Given the description of an element on the screen output the (x, y) to click on. 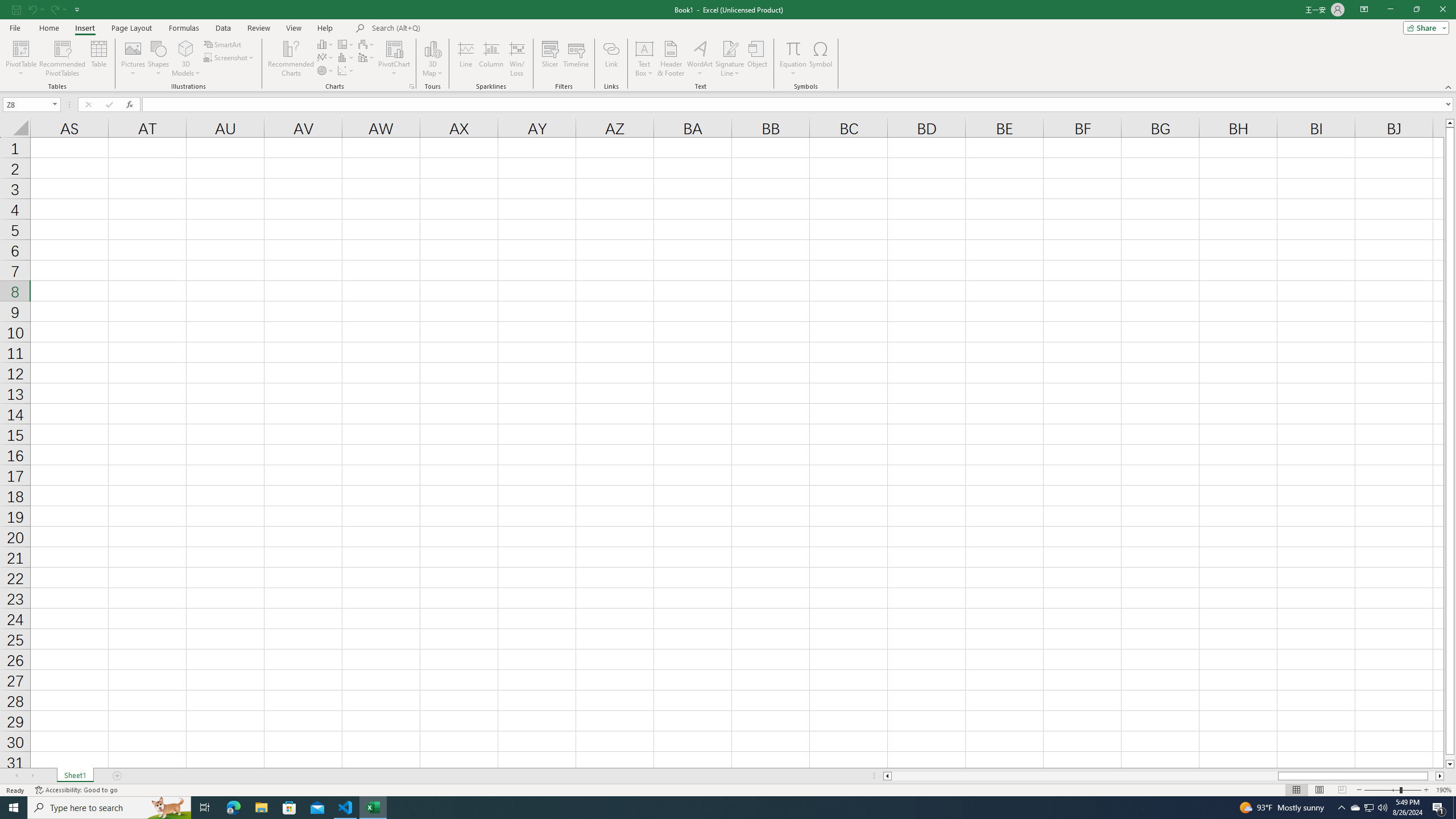
Zoom Out (1381, 790)
Win/Loss (516, 58)
Insert Combo Chart (366, 56)
Add Sheet (117, 775)
Line (465, 58)
Restore Down (1416, 9)
Draw Horizontal Text Box (643, 48)
Page down (1449, 757)
Insert Column or Bar Chart (325, 44)
